Given the description of an element on the screen output the (x, y) to click on. 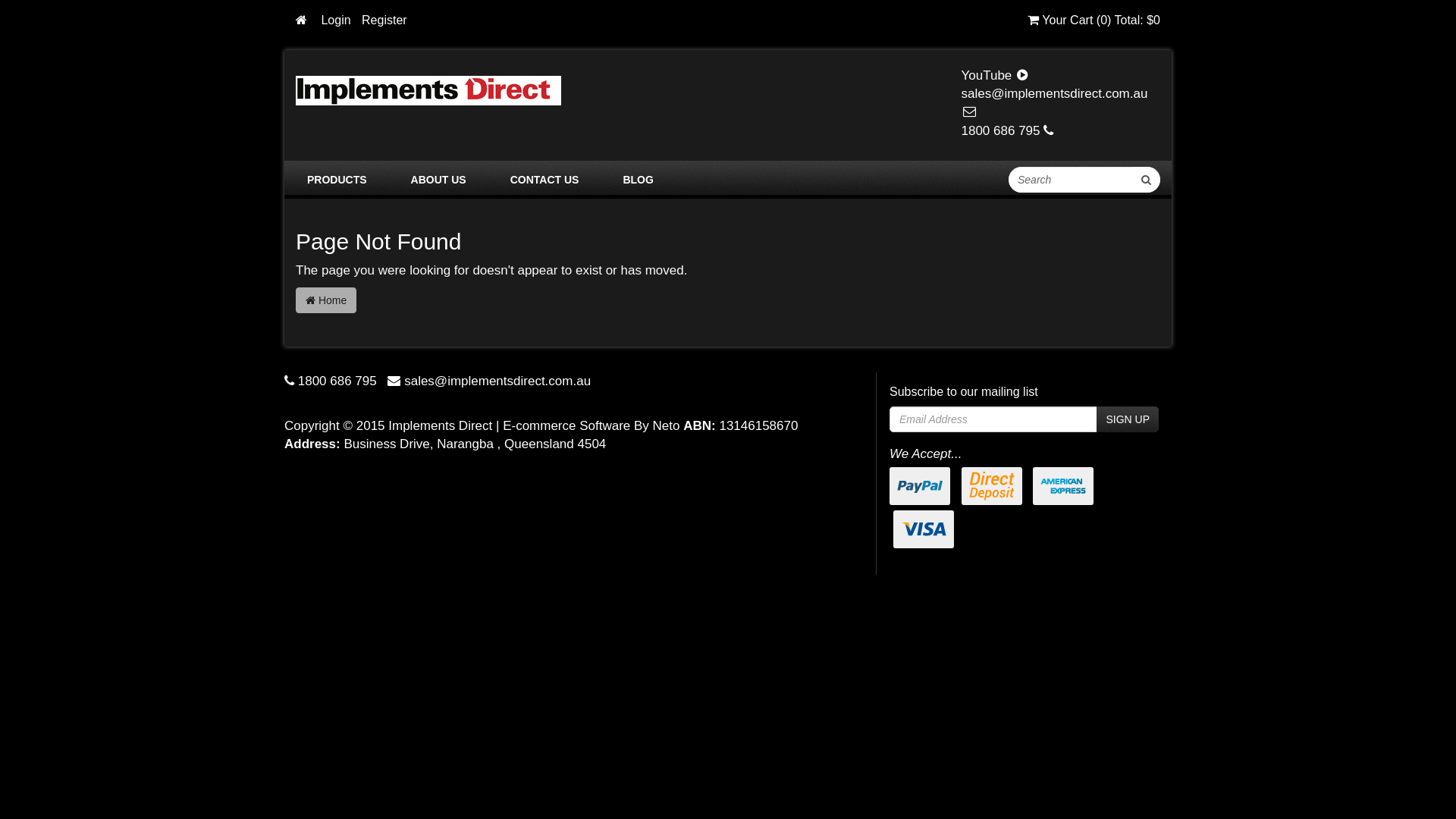
sales@implementsdirect.com.au Element type: text (497, 380)
ABOUT US Element type: text (438, 179)
BLOG Element type: text (637, 179)
Home Element type: text (325, 300)
  Element type: text (302, 19)
CONTACT US Element type: text (544, 179)
E-commerce Software Element type: text (566, 425)
Your Cart (0) Total: $0 Element type: text (1093, 19)
sales@implementsdirect.com.au Element type: text (1054, 102)
PRODUCTS Element type: text (336, 179)
Implements Direct Element type: hover (428, 89)
Search Element type: text (1146, 179)
Sign Up Element type: text (1127, 419)
Login Element type: text (335, 19)
Register Element type: text (384, 19)
YouTube Element type: text (995, 75)
